Given the description of an element on the screen output the (x, y) to click on. 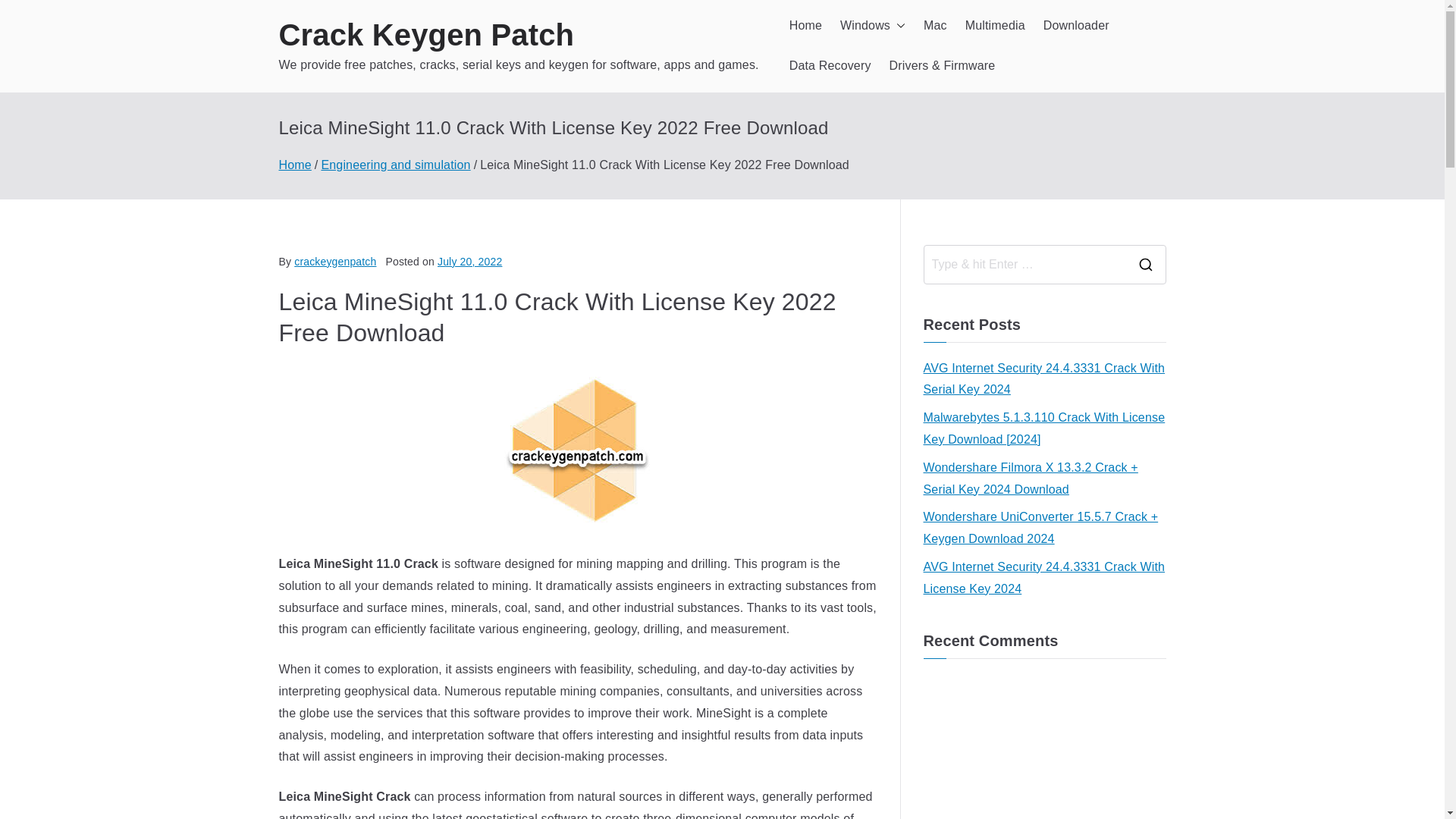
Home (805, 25)
Multimedia (995, 25)
July 20, 2022 (470, 261)
Windows (872, 25)
Crack Keygen Patch (427, 34)
Home (295, 164)
crackeygenpatch (334, 261)
Search for: (1024, 264)
Downloader (1076, 25)
Engineering and simulation (395, 164)
Mac (935, 25)
Data Recovery (829, 65)
